Given the description of an element on the screen output the (x, y) to click on. 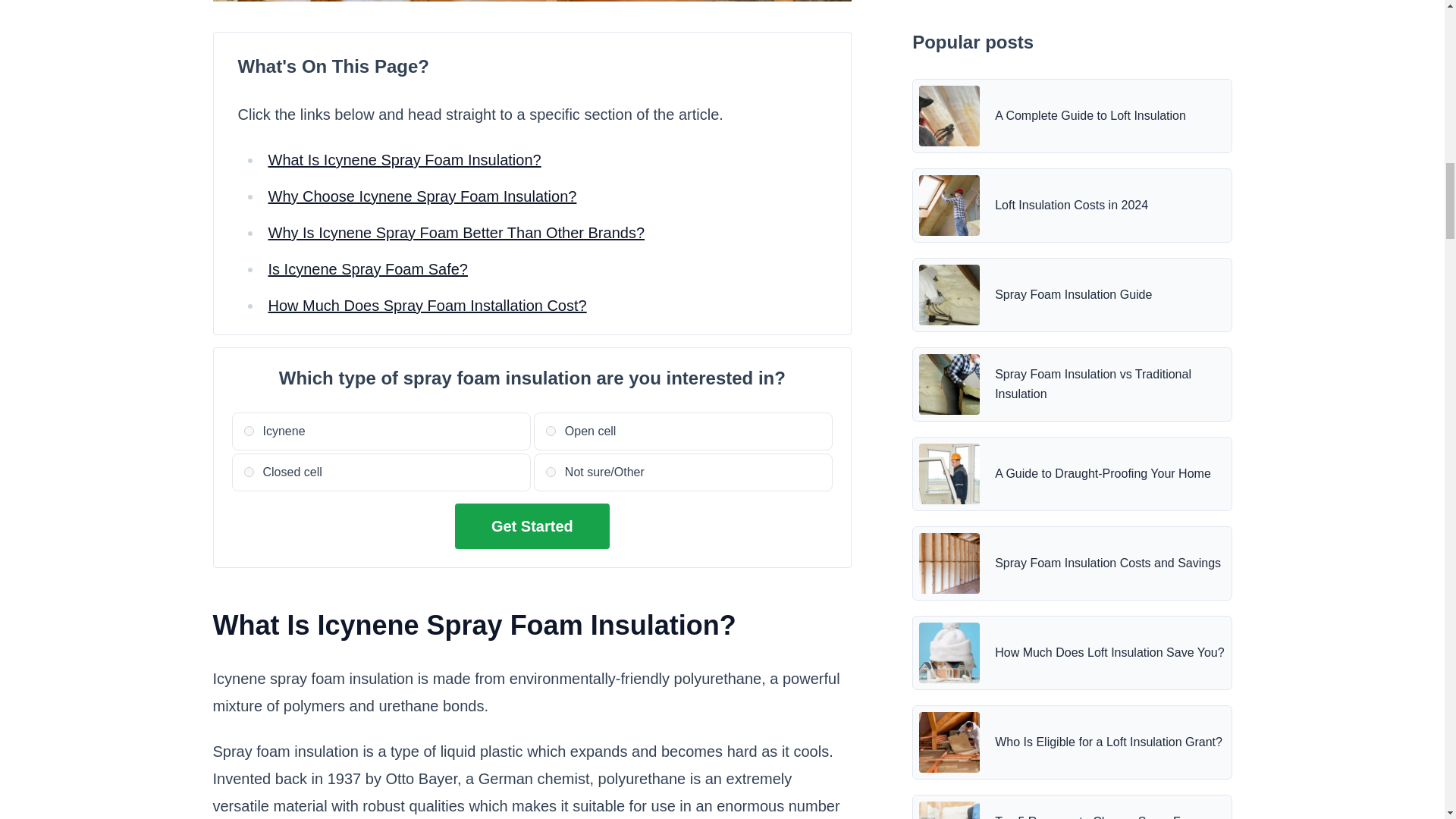
on (248, 471)
on (551, 471)
on (551, 430)
on (248, 430)
